Given the description of an element on the screen output the (x, y) to click on. 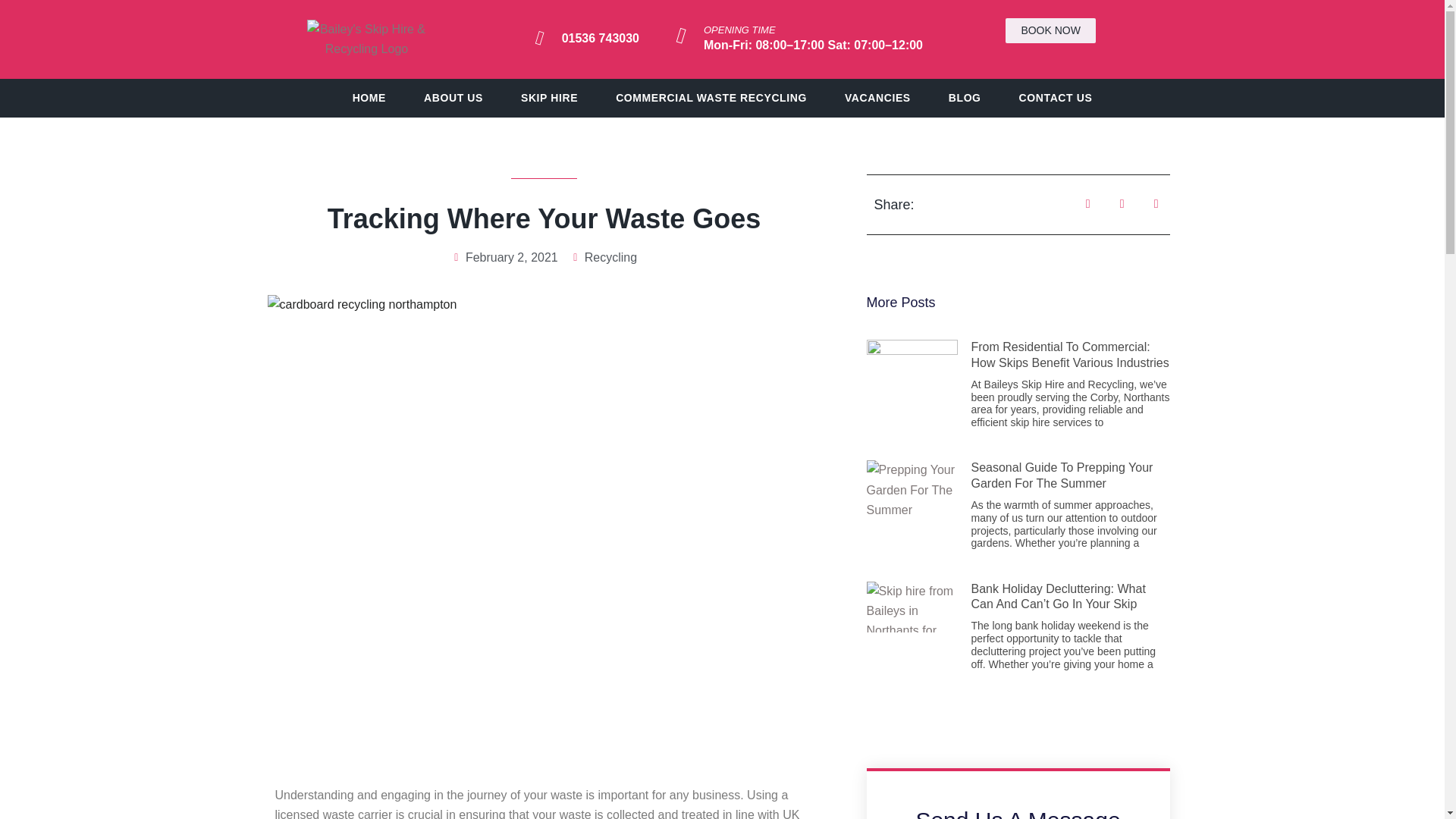
ABOUT US (453, 97)
SKIP HIRE (549, 97)
HOME (368, 97)
BOOK NOW (1051, 30)
